Given the description of an element on the screen output the (x, y) to click on. 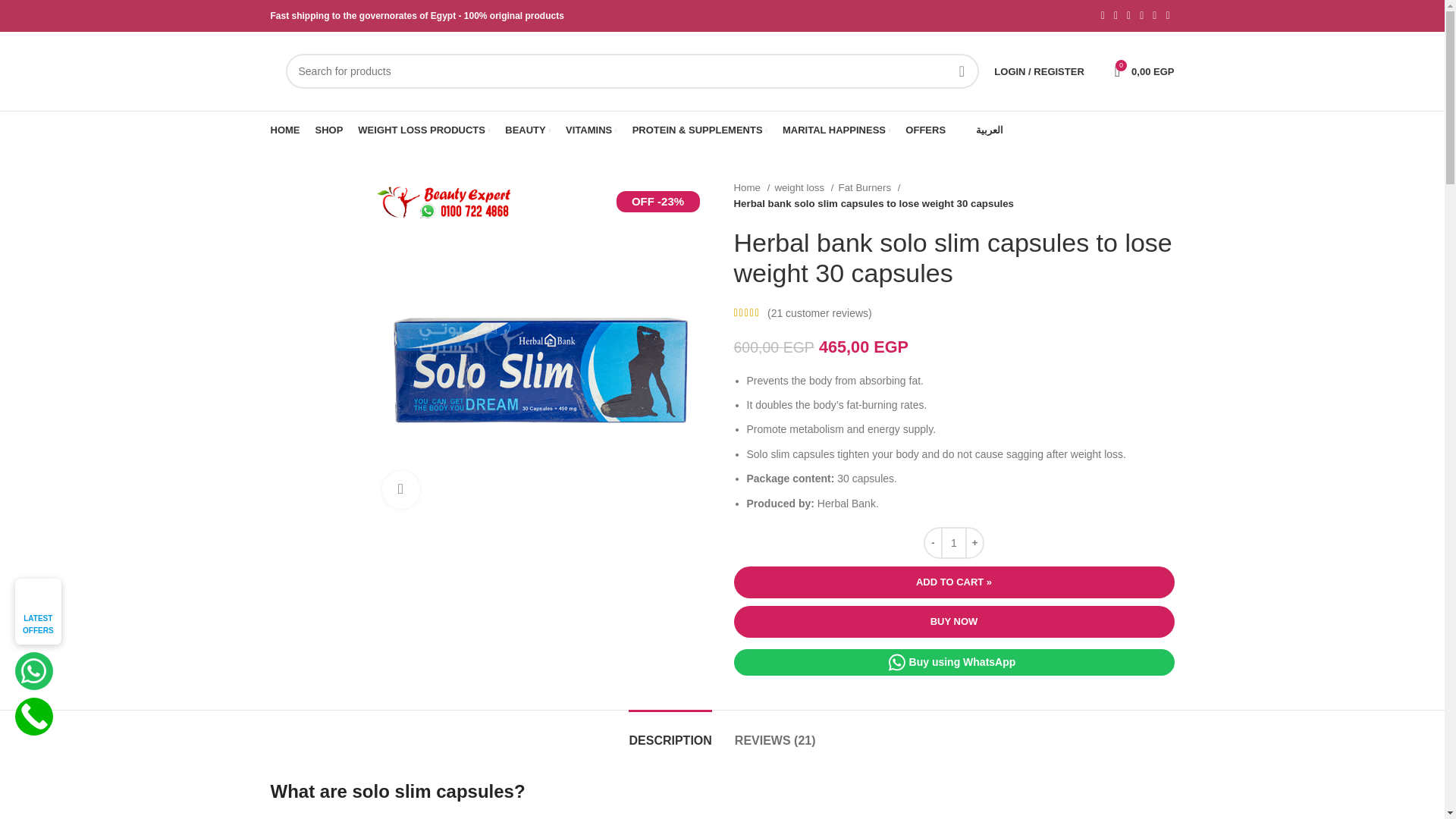
My account (1038, 71)
SHOP (329, 130)
SEARCH (960, 71)
Shopping cart (1144, 71)
Log in (959, 312)
solo slim capsules (539, 349)
HOME (284, 130)
Search for products (631, 71)
WEIGHT LOSS PRODUCTS (423, 130)
